Given the description of an element on the screen output the (x, y) to click on. 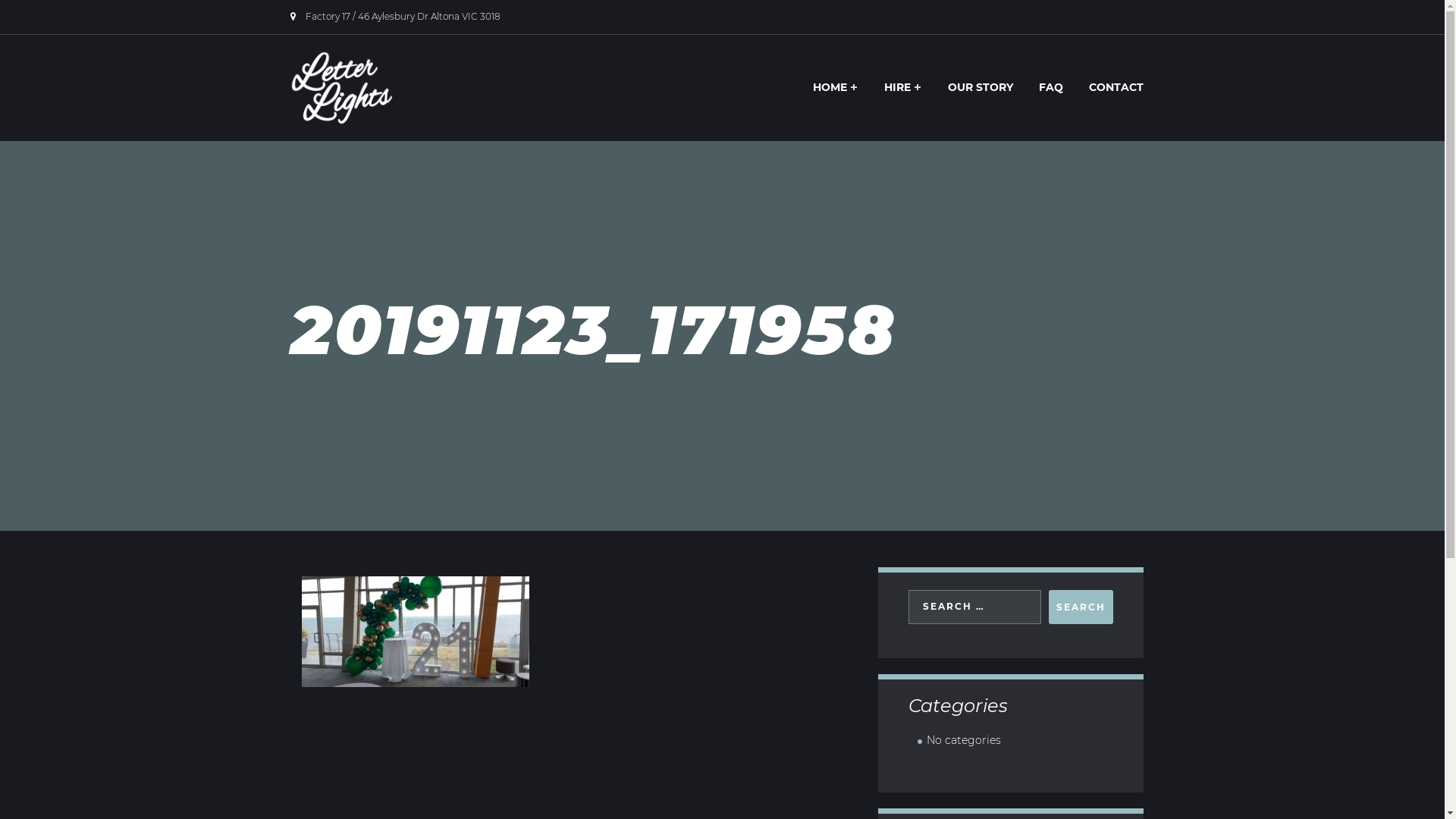
OUR STORY Element type: text (979, 87)
HOME Element type: text (834, 87)
FAQ Element type: text (1049, 87)
CONTACT Element type: text (1115, 87)
HIRE Element type: text (902, 87)
LETTER LIGHTS Element type: text (382, 143)
Search Element type: text (1080, 606)
